Given the description of an element on the screen output the (x, y) to click on. 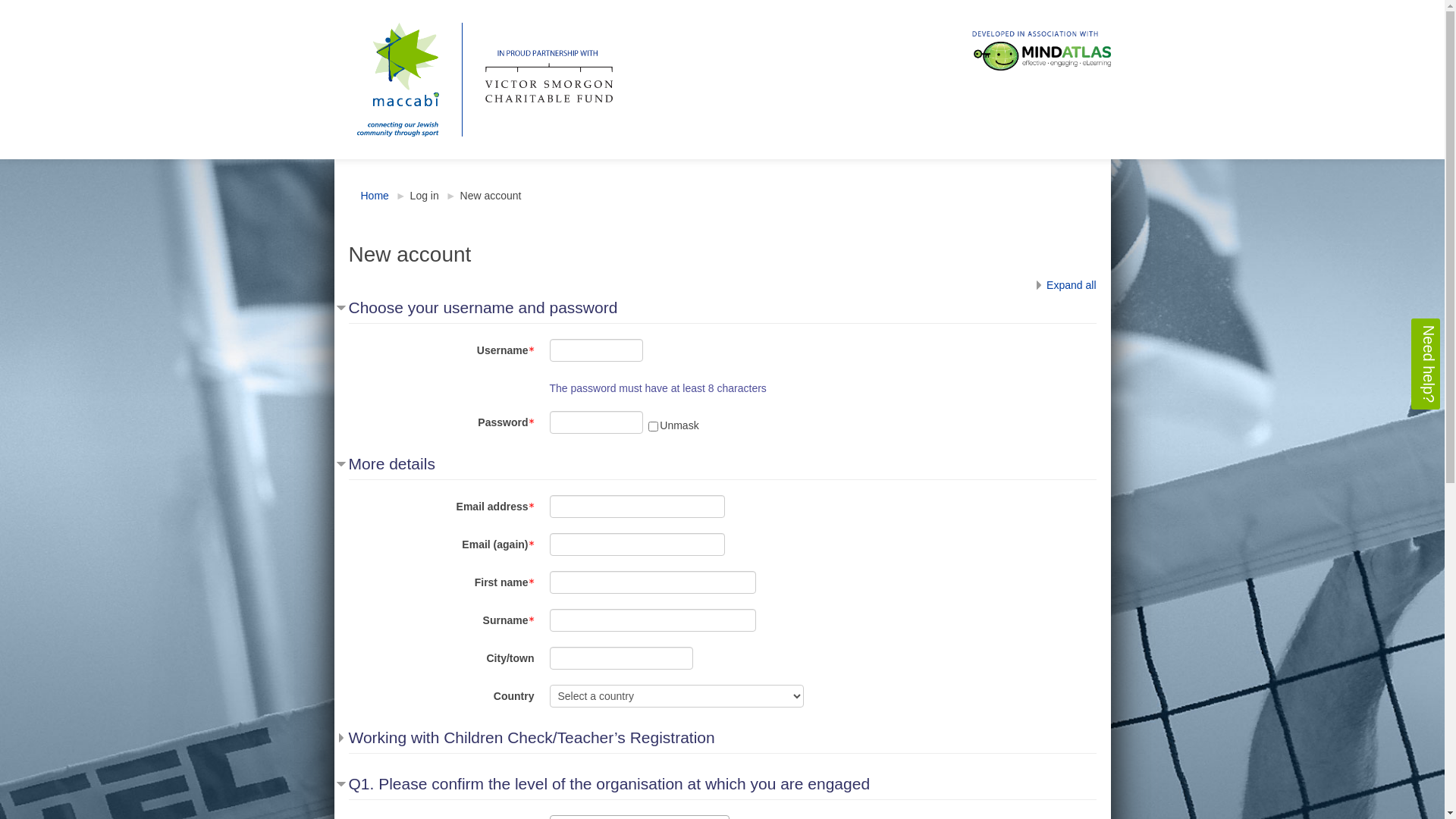
Required field Element type: hover (530, 544)
Required field Element type: hover (530, 582)
Expand all Element type: text (1063, 285)
Required field Element type: hover (530, 422)
Home Element type: text (374, 195)
Required field Element type: hover (530, 620)
Required field Element type: hover (530, 350)
More details Element type: text (386, 463)
Required field Element type: hover (530, 506)
Choose your username and password Element type: text (477, 307)
